Given the description of an element on the screen output the (x, y) to click on. 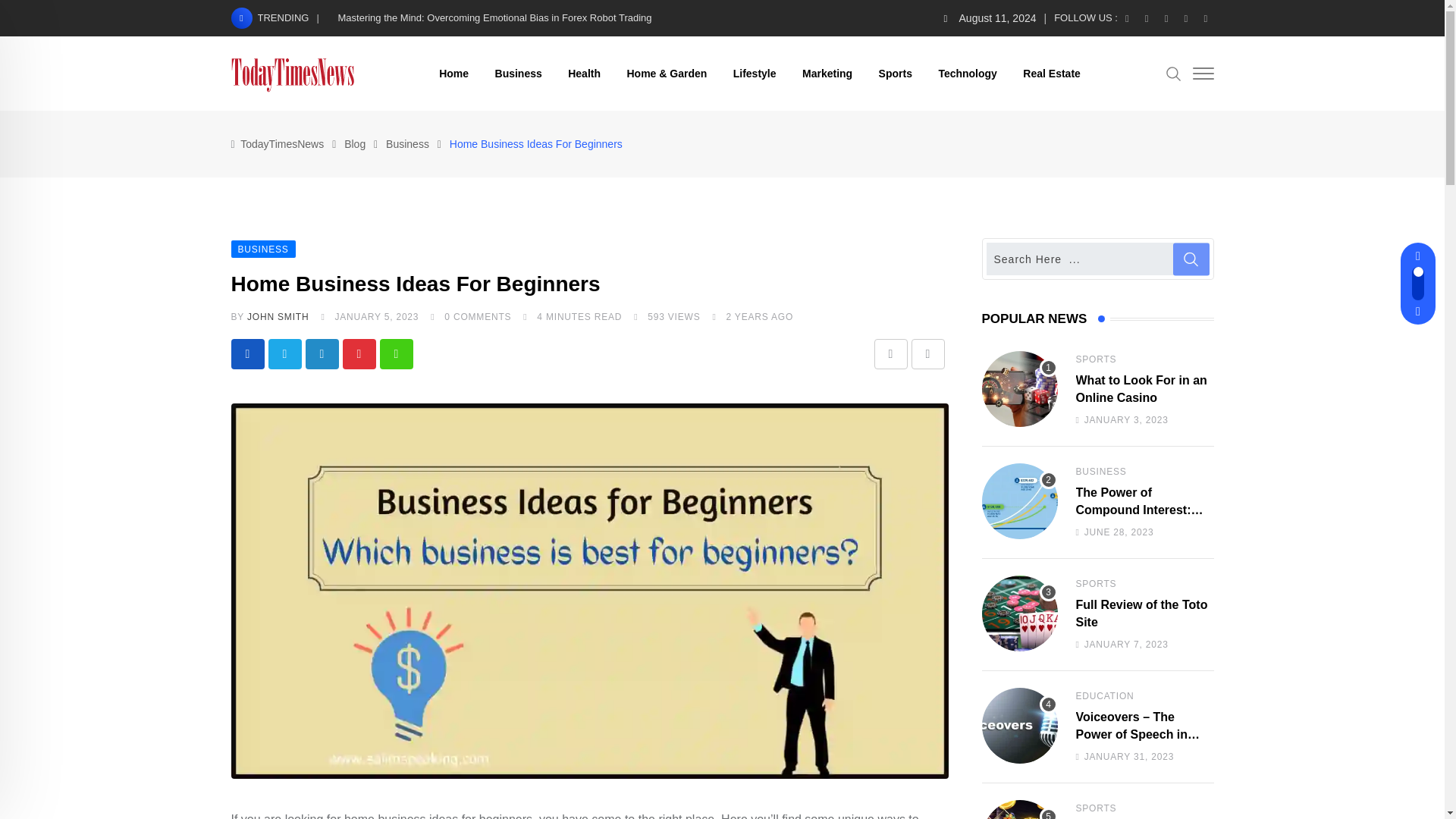
Go to Blog. (354, 143)
Real Estate (1050, 73)
What to Look For in an Online Casino (1019, 388)
Go to the Business category archives. (407, 143)
Marketing (826, 73)
Search (1173, 72)
Posts by John Smith (277, 317)
Go to TodayTimesNews. (281, 143)
Full Review of the Toto Site (1019, 613)
